Given the description of an element on the screen output the (x, y) to click on. 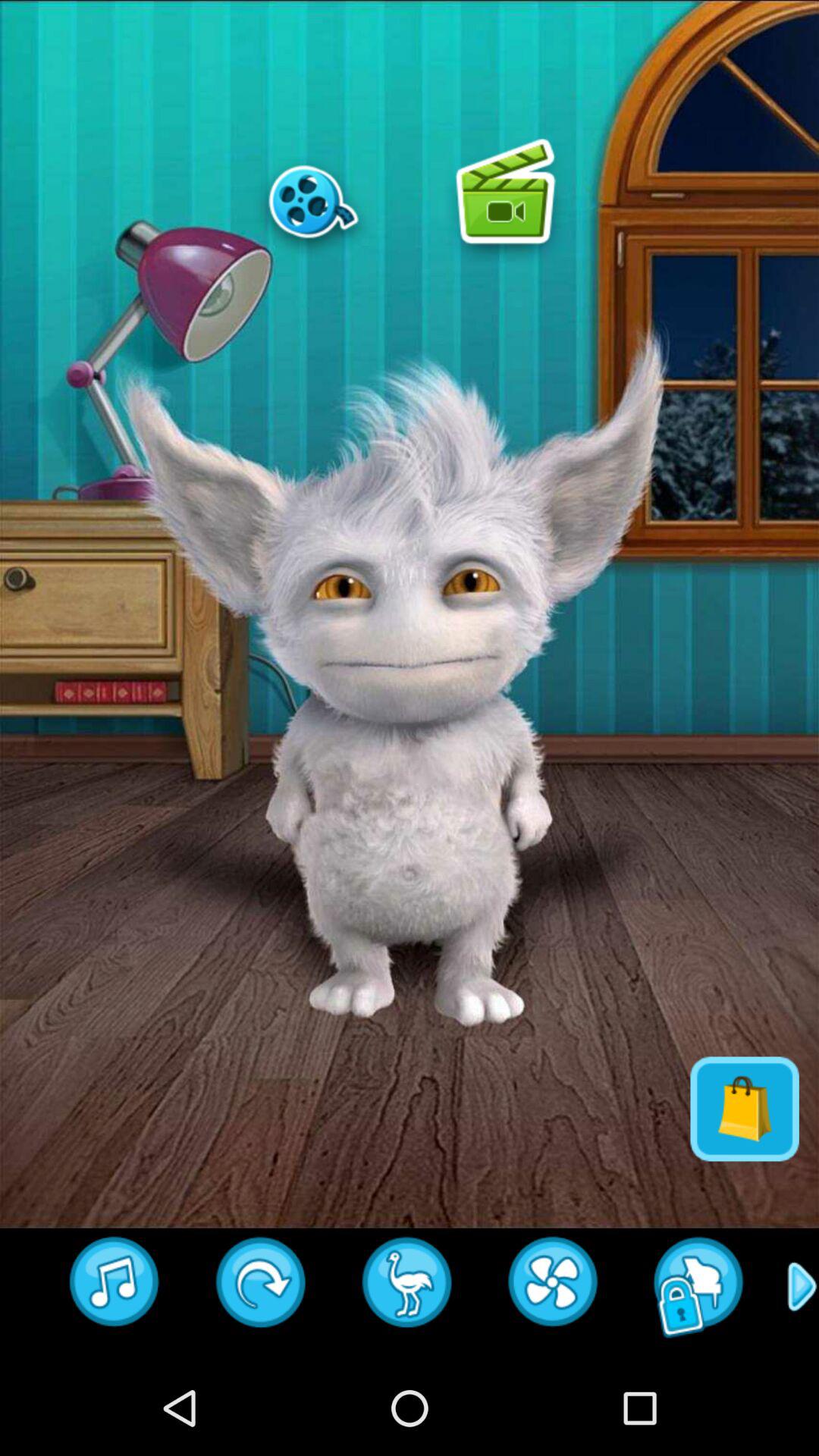
music page (114, 1287)
